Given the description of an element on the screen output the (x, y) to click on. 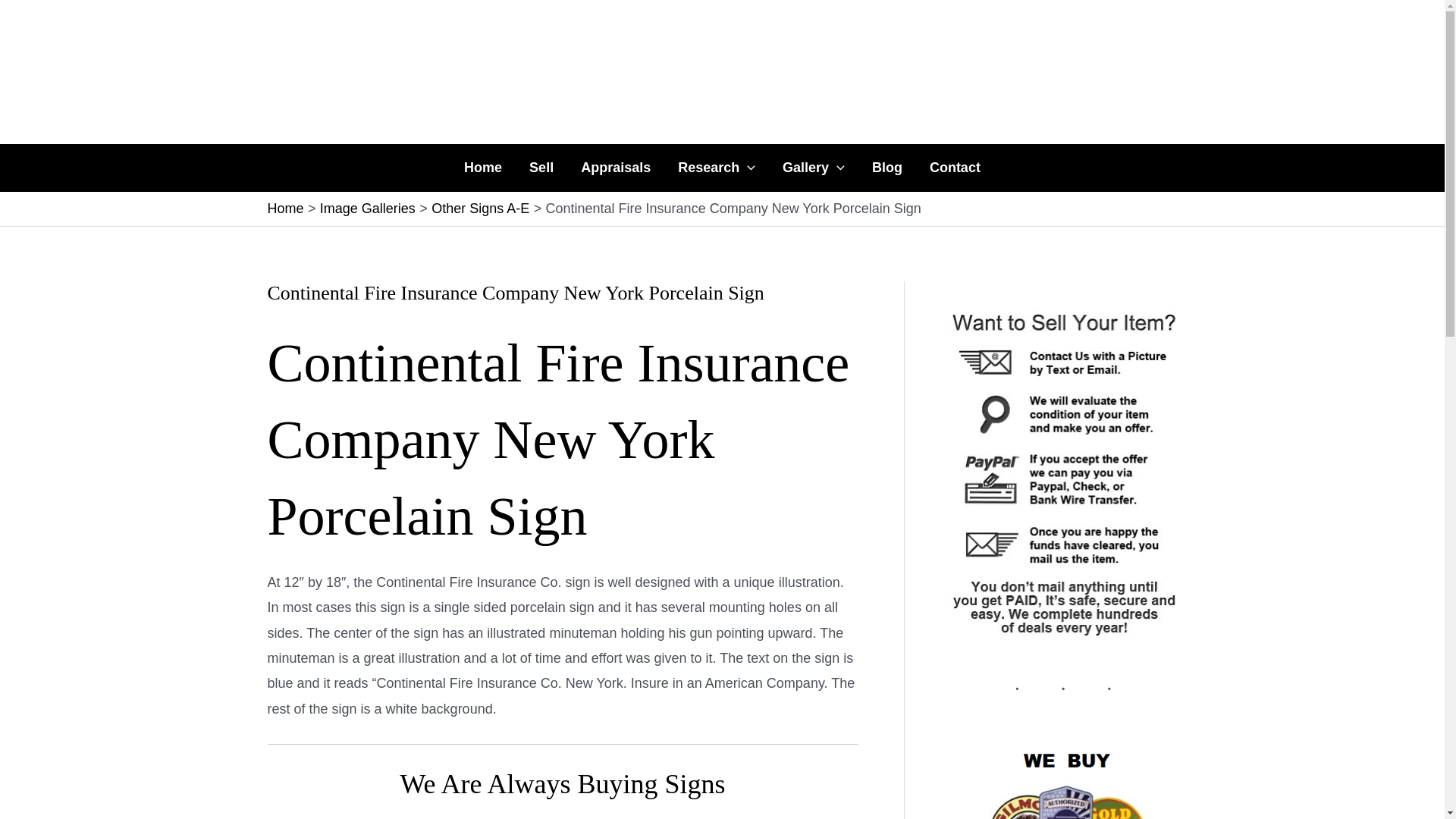
Appraisals (615, 167)
Research (715, 167)
Home (482, 167)
Blog (887, 167)
Sell (541, 167)
Gallery (813, 167)
Contact (954, 167)
